Given the description of an element on the screen output the (x, y) to click on. 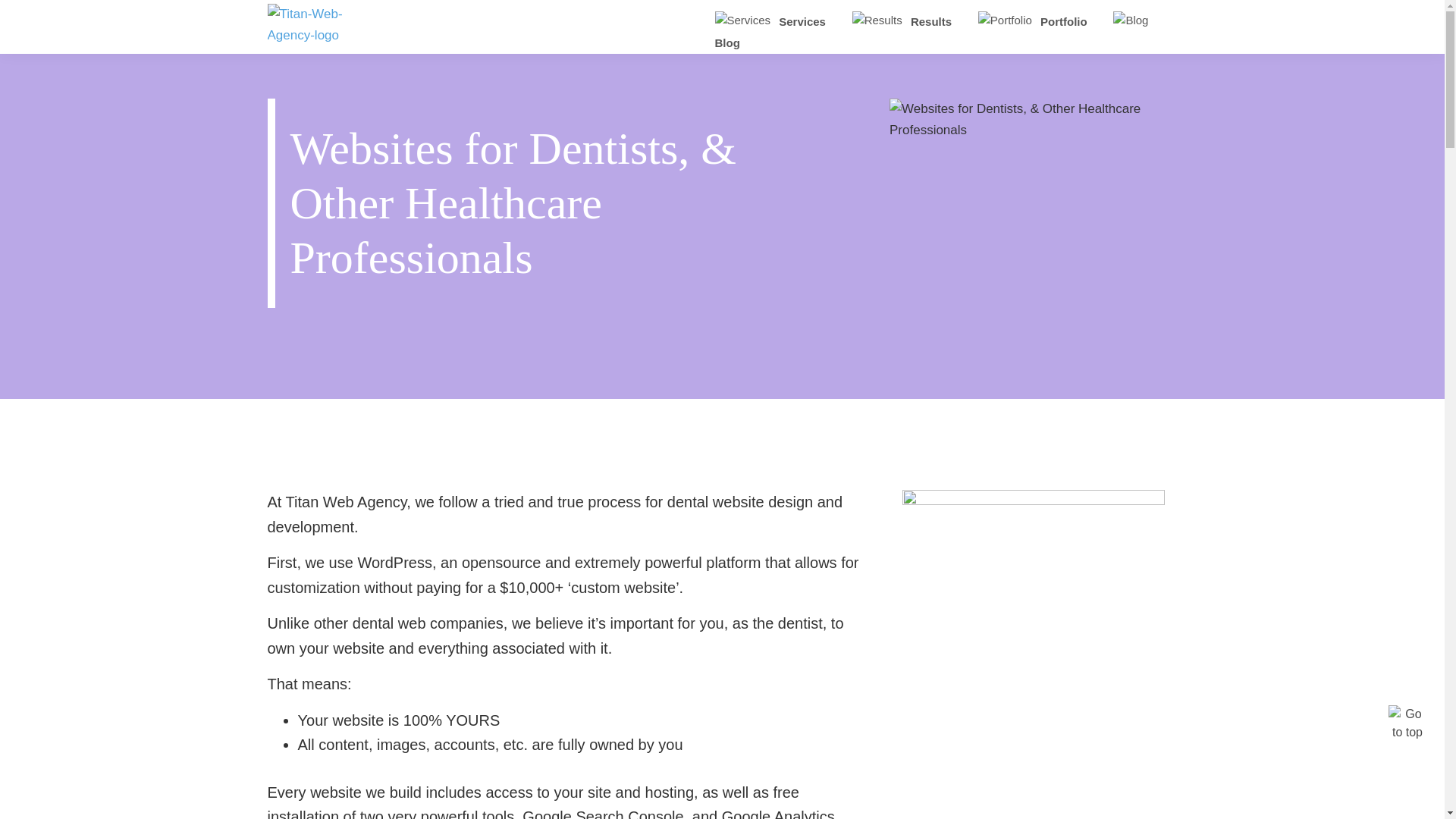
Services (769, 21)
Blog (933, 32)
Go to top (1407, 723)
Results (901, 21)
Portfolio (1032, 21)
